Given the description of an element on the screen output the (x, y) to click on. 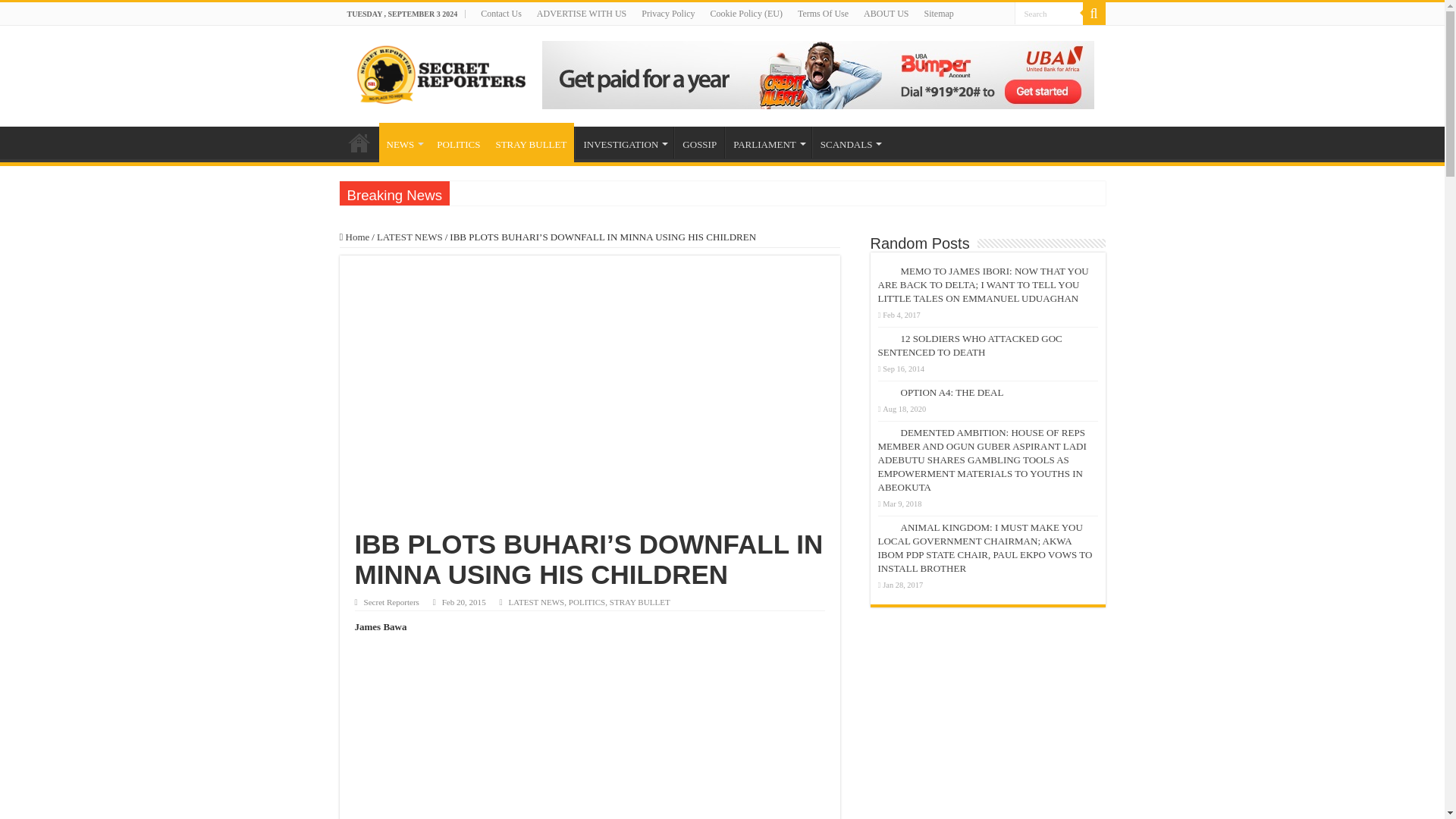
Secret Reporters (437, 73)
PARLIAMENT (767, 142)
Search (1094, 13)
SCANDALS (850, 142)
Terms Of Use (823, 13)
ADVERTISE WITH US (581, 13)
GOSSIP (698, 142)
ABOUT US (885, 13)
NEWS (403, 142)
POLITICS (458, 142)
